Given the description of an element on the screen output the (x, y) to click on. 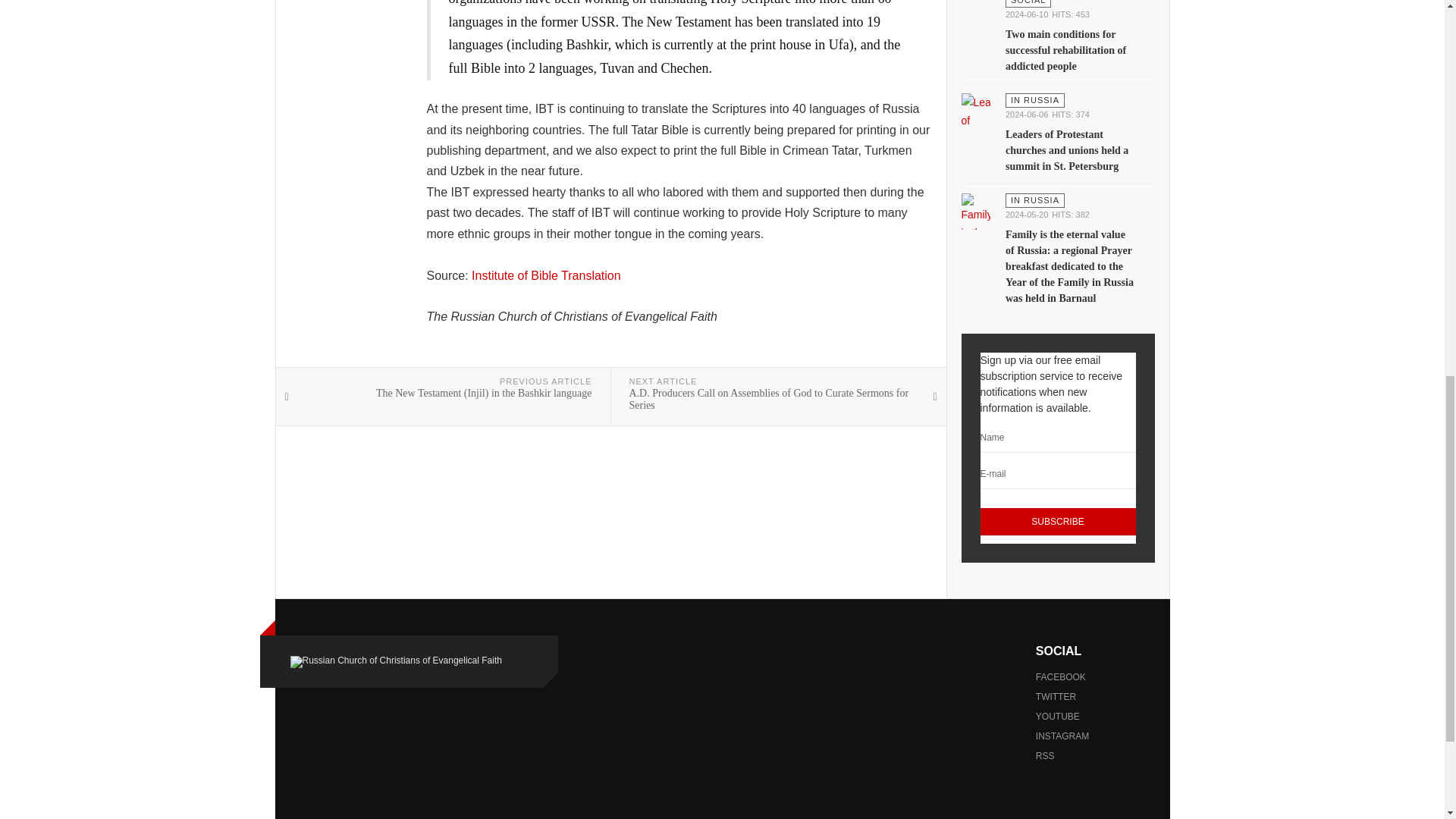
E-mail (1057, 474)
Name (1057, 438)
Subscribe (1057, 522)
